Given the description of an element on the screen output the (x, y) to click on. 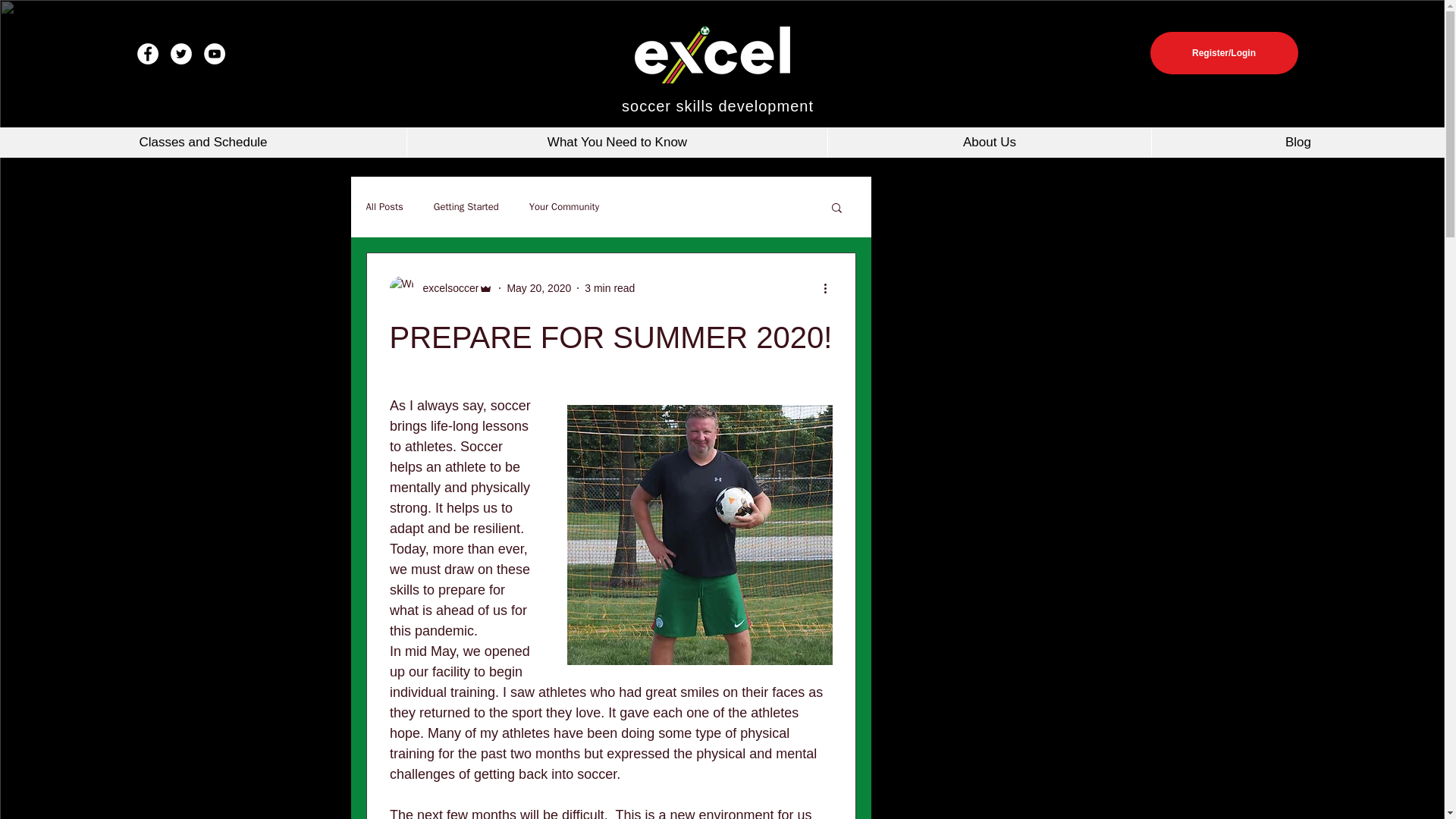
excelsoccer (446, 288)
excelsoccer (441, 288)
Classes and Schedule (203, 142)
What You Need to Know (616, 142)
All Posts (384, 206)
May 20, 2020 (538, 287)
About Us (989, 142)
3 min read (609, 287)
Getting Started (466, 206)
Your Community (563, 206)
